Given the description of an element on the screen output the (x, y) to click on. 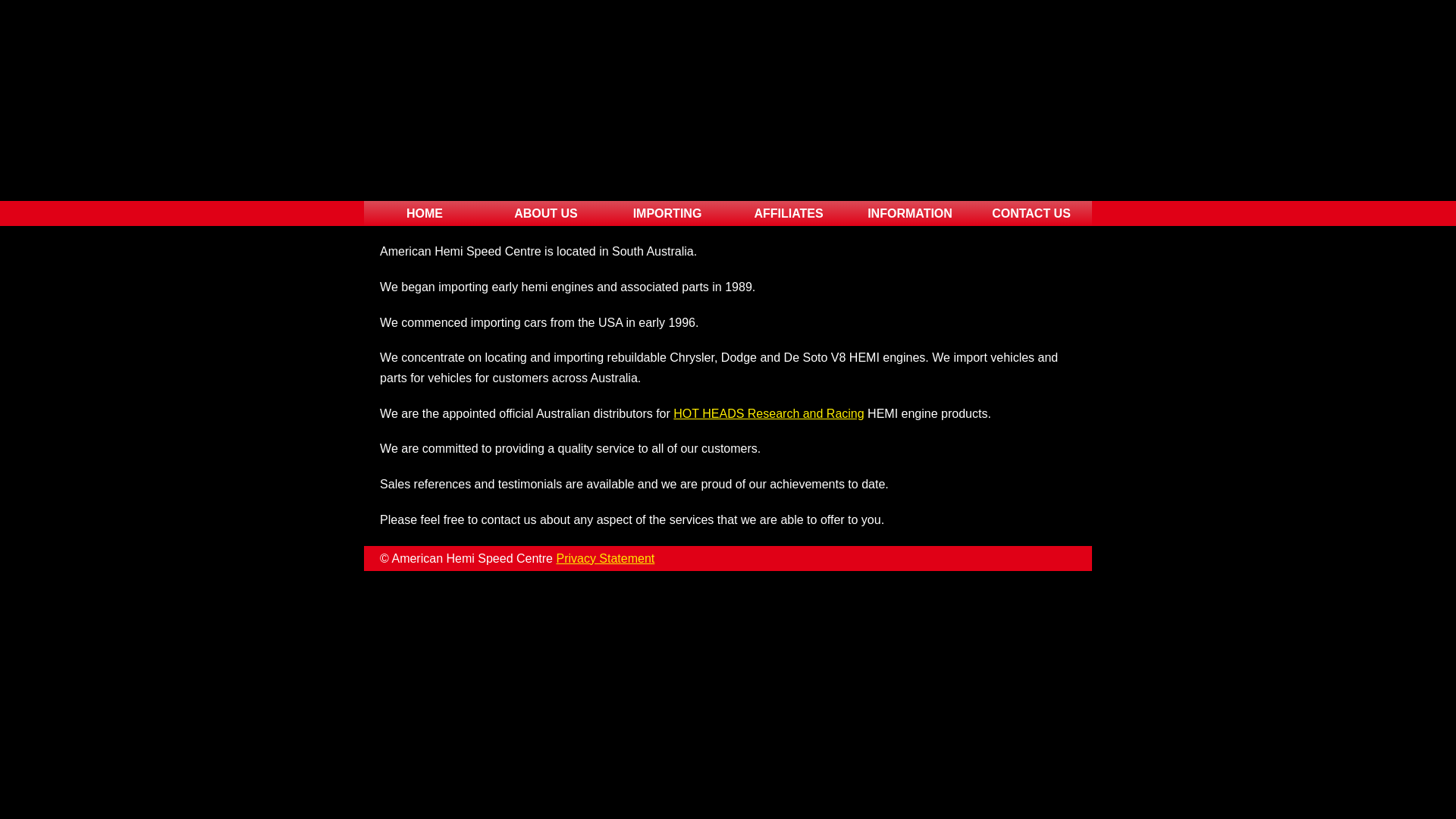
ABOUT US Element type: text (545, 212)
HOT HEADS Research and Racing Element type: text (768, 413)
LIKE US ON FACEBOOK! Element type: text (1062, 122)
Privacy Statement Element type: text (604, 558)
AFFILIATES Element type: text (788, 212)
IMPORTING Element type: text (667, 212)
CONTACT US Element type: text (1031, 212)
INFORMATION Element type: text (909, 212)
HOME Element type: text (424, 212)
